Given the description of an element on the screen output the (x, y) to click on. 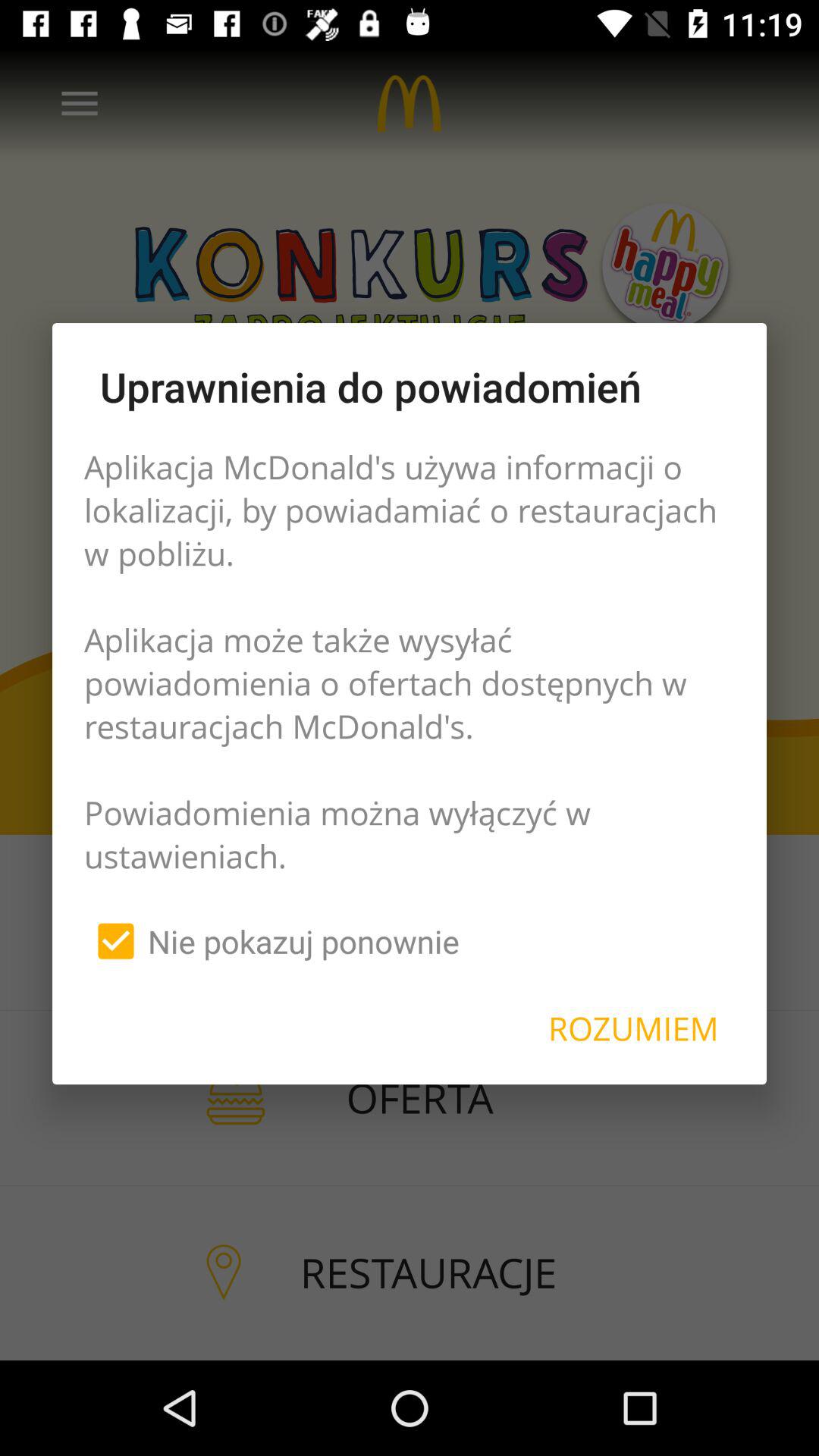
launch the icon below the aplikacja mcdonald s icon (633, 1028)
